Given the description of an element on the screen output the (x, y) to click on. 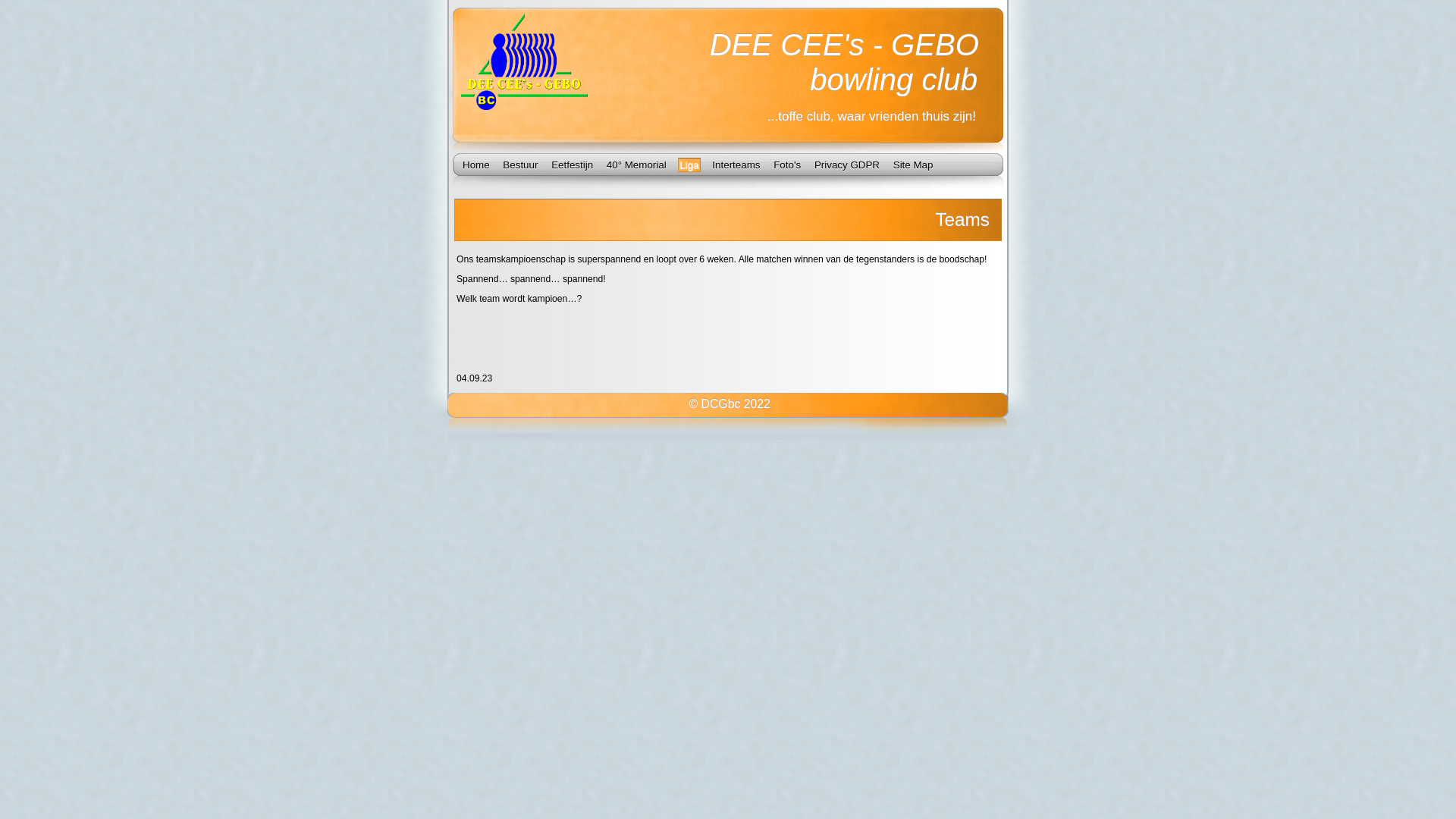
Eetfestijn Element type: text (571, 164)
Foto's Element type: text (786, 164)
Liga Element type: text (688, 164)
Bestuur Element type: text (520, 164)
Interteams Element type: text (735, 164)
Privacy GDPR Element type: text (846, 164)
DEE CEE's - GEBO bowling club Element type: text (843, 62)
Home Element type: text (476, 164)
Site Map Element type: text (913, 164)
